Given the description of an element on the screen output the (x, y) to click on. 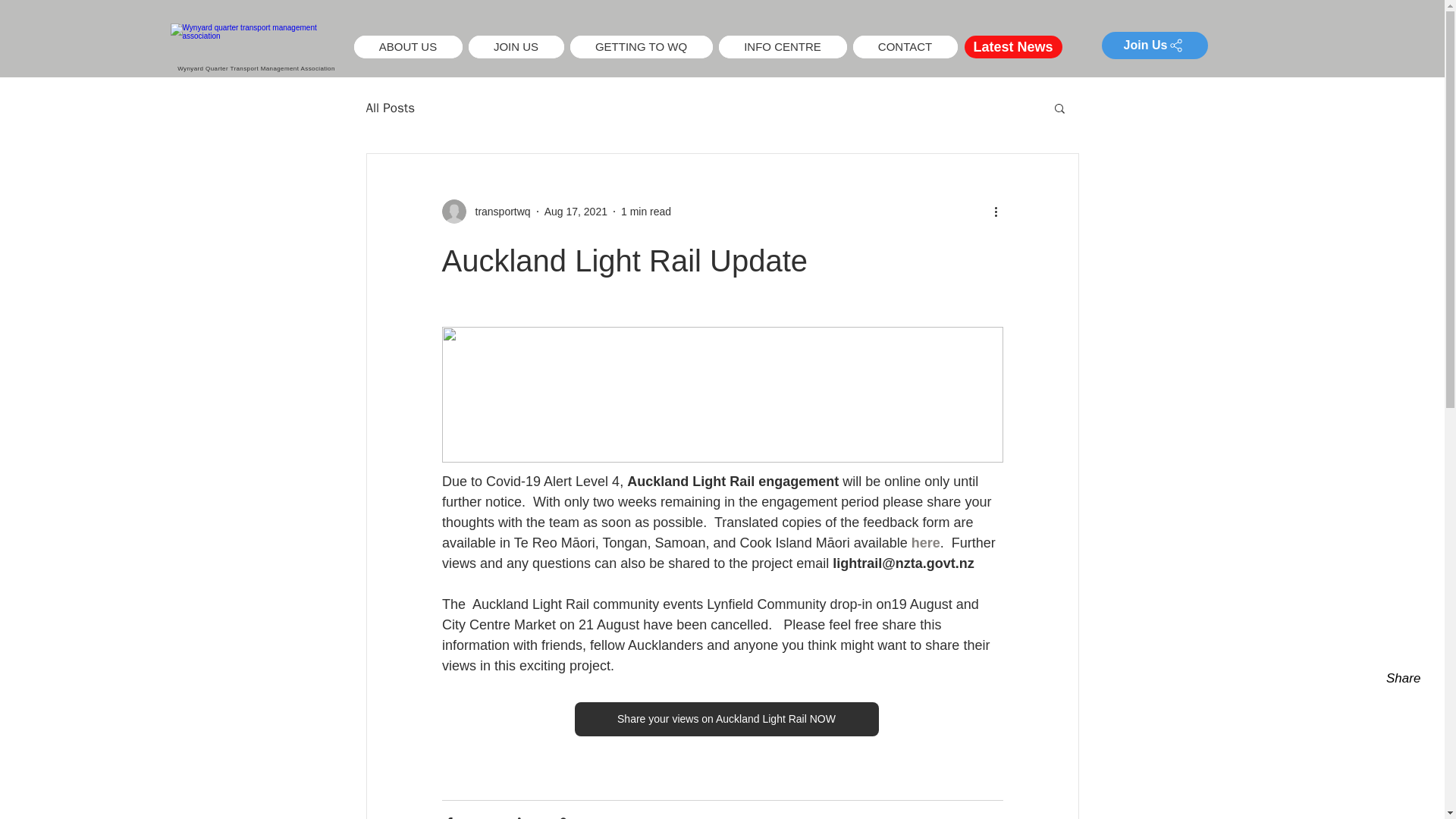
Latest News (1012, 47)
Share your views on Auckland Light Rail NOW (725, 718)
ABOUT US (407, 47)
1 min read (646, 210)
Join Us (1153, 44)
CONTACT (903, 47)
GETTING TO WQ (641, 47)
Aug 17, 2021 (575, 210)
here (925, 542)
JOIN US (516, 47)
transportwq (497, 211)
All Posts (389, 107)
